Given the description of an element on the screen output the (x, y) to click on. 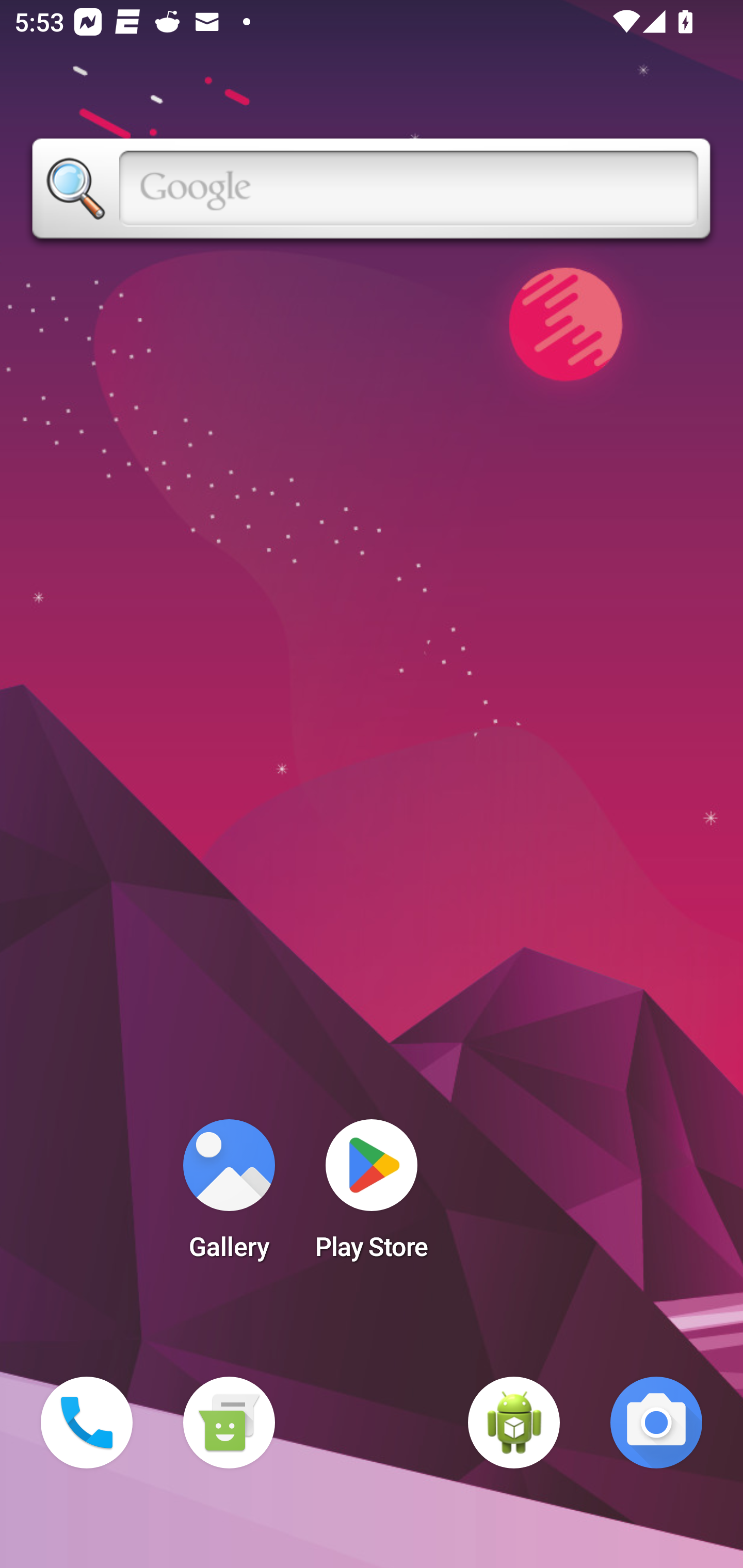
Gallery (228, 1195)
Play Store (371, 1195)
Phone (86, 1422)
Messaging (228, 1422)
WebView Browser Tester (513, 1422)
Camera (656, 1422)
